Given the description of an element on the screen output the (x, y) to click on. 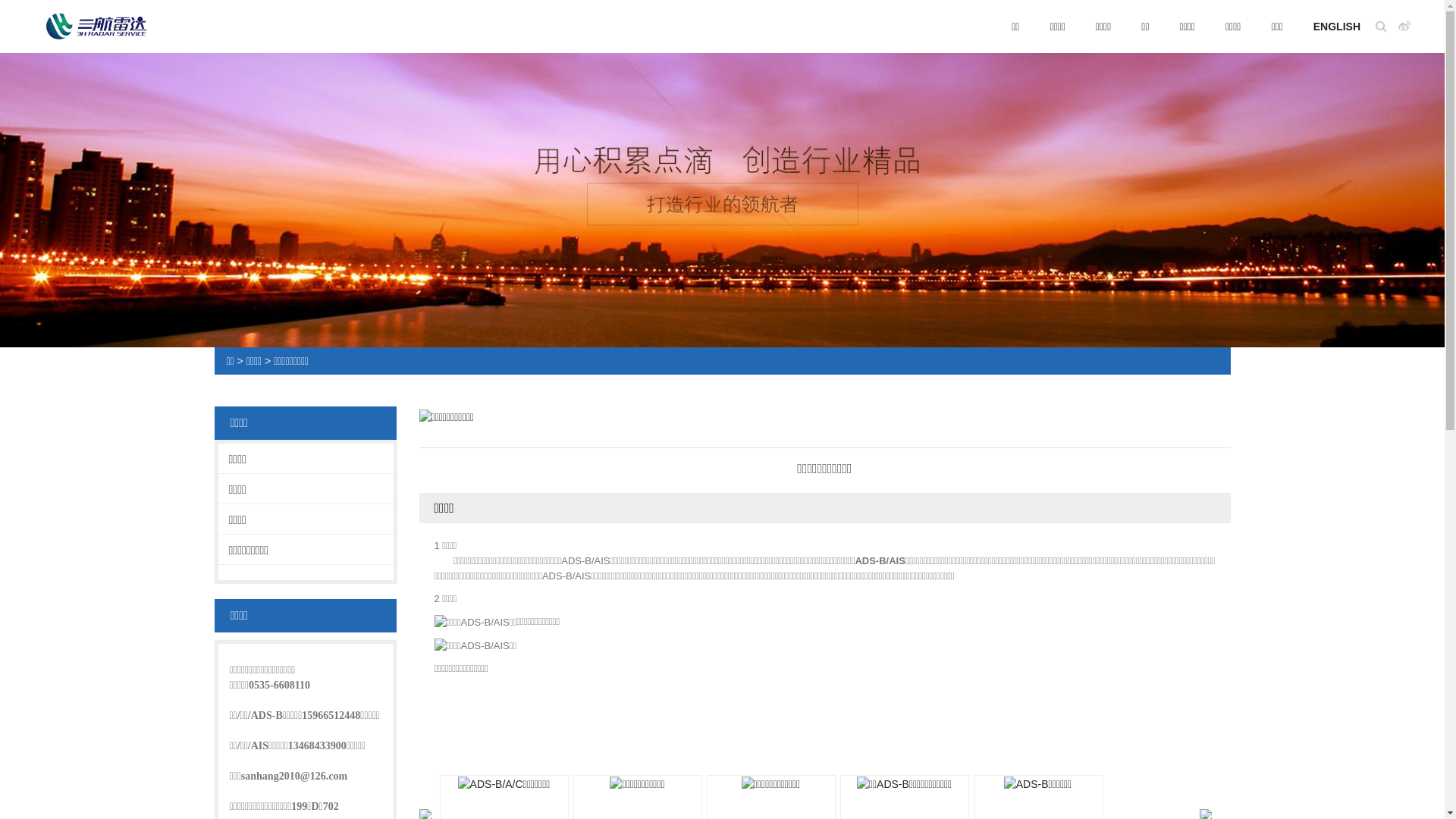
ENGLISH Element type: text (1336, 26)
